Given the description of an element on the screen output the (x, y) to click on. 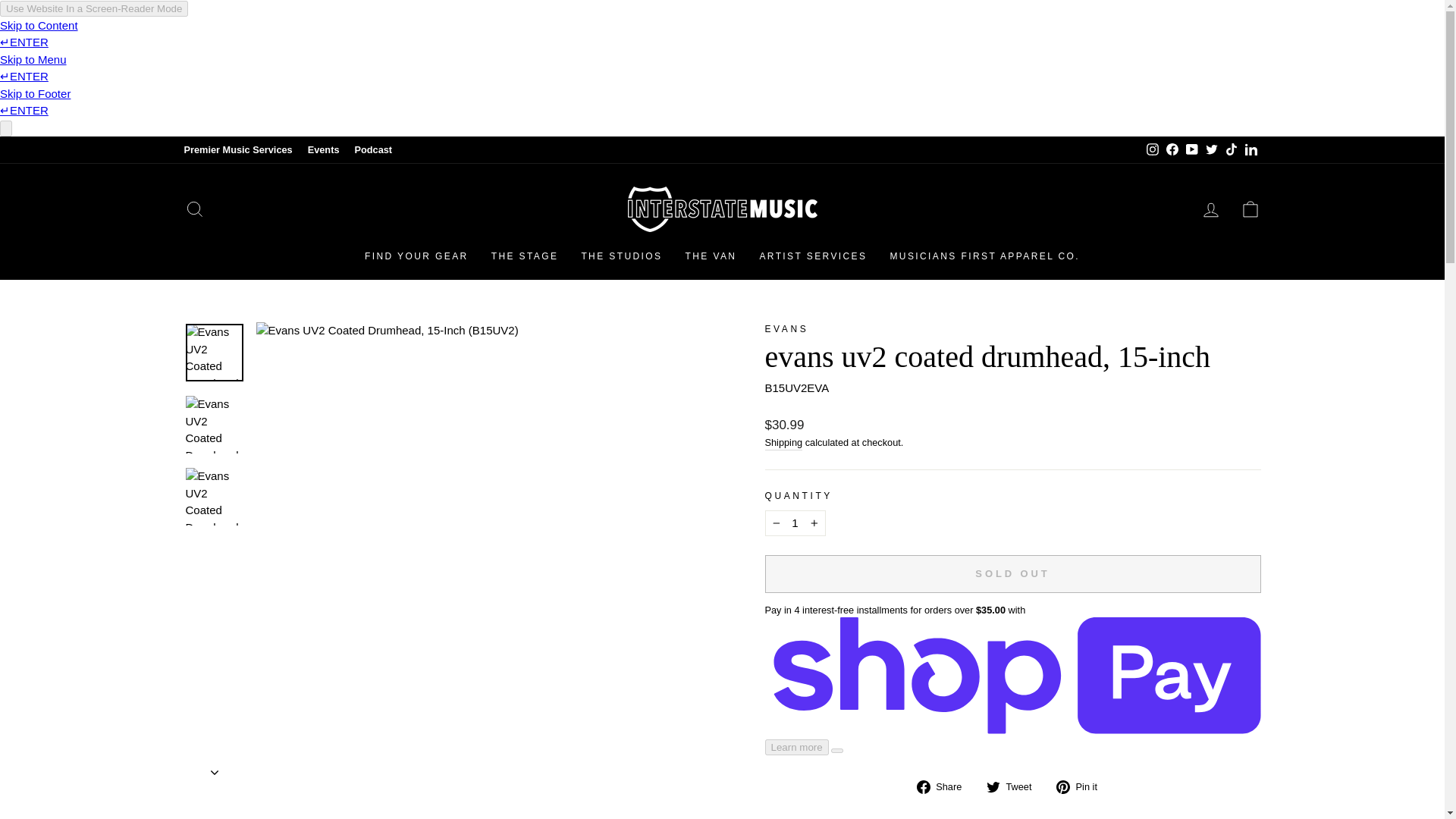
Events (323, 149)
Evans (786, 328)
Pin on Pinterest (1082, 786)
Interstate Music on YouTube (1190, 149)
Premier Music Services (237, 149)
Interstate Music on LinkedIn (1250, 149)
Interstate Music on TikTok (1230, 149)
Interstate Music on Twitter (1211, 149)
Interstate Music on Facebook (1170, 149)
Share on Facebook (944, 786)
1 (794, 523)
Interstate Music on Instagram (1151, 149)
Tweet on Twitter (1014, 786)
